Given the description of an element on the screen output the (x, y) to click on. 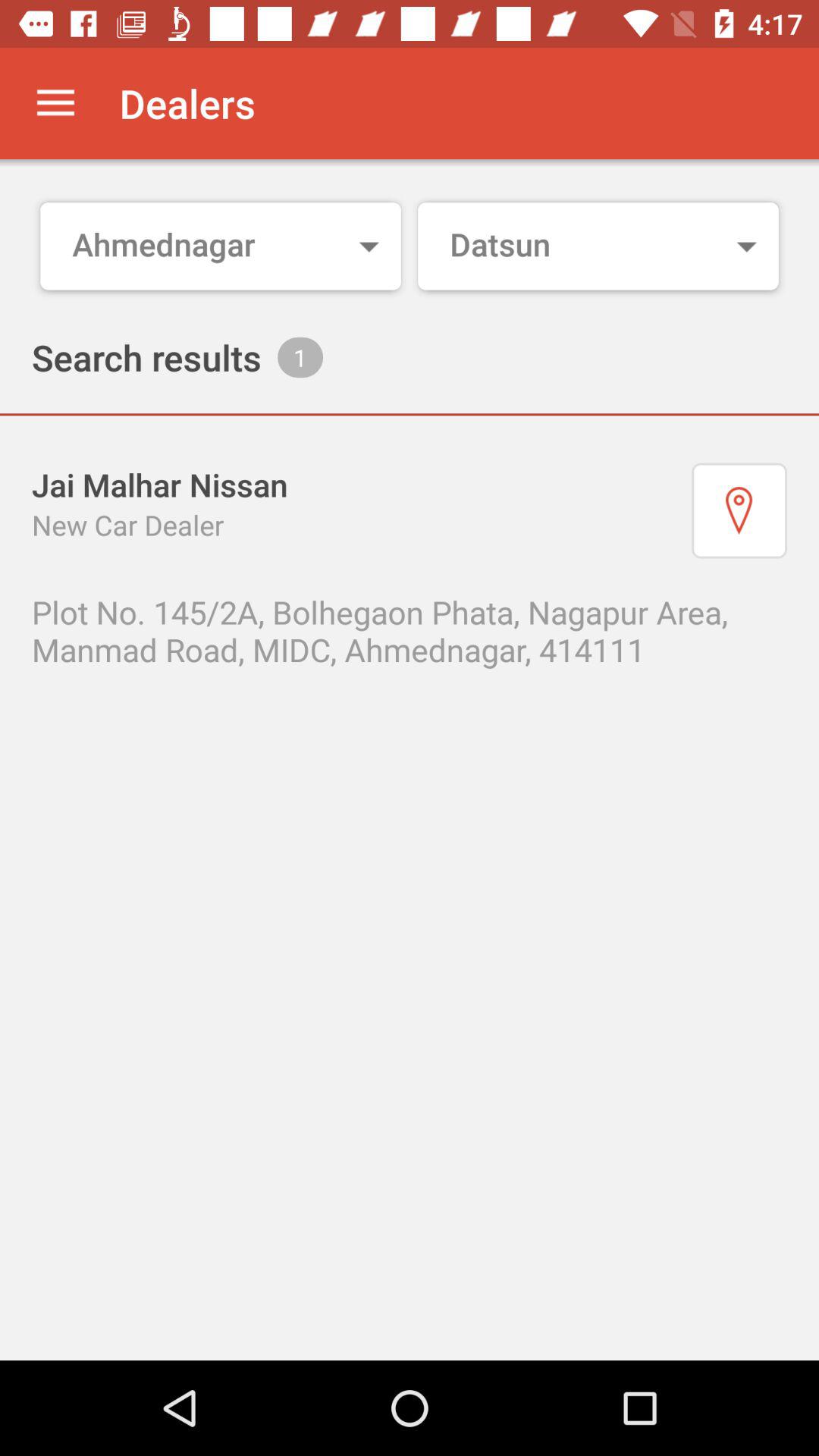
map info (739, 510)
